Given the description of an element on the screen output the (x, y) to click on. 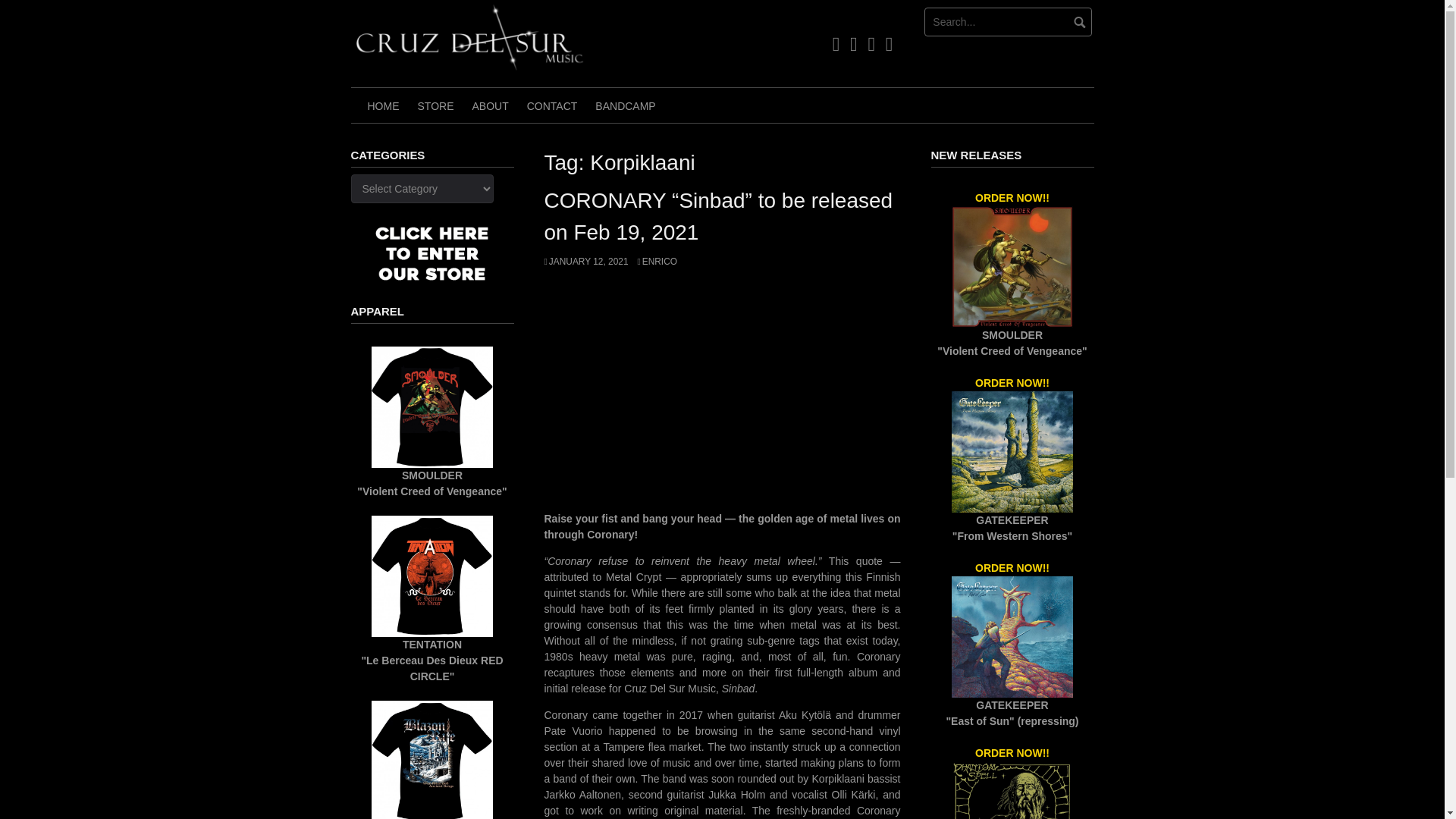
STORE (435, 104)
HOME (382, 104)
Search for: (1008, 21)
BANDCAMP (624, 104)
Coronary - Sinbad (722, 395)
ENRICO (657, 261)
JANUARY 12, 2021 (586, 261)
CONTACT (552, 104)
ABOUT (489, 104)
